Given the description of an element on the screen output the (x, y) to click on. 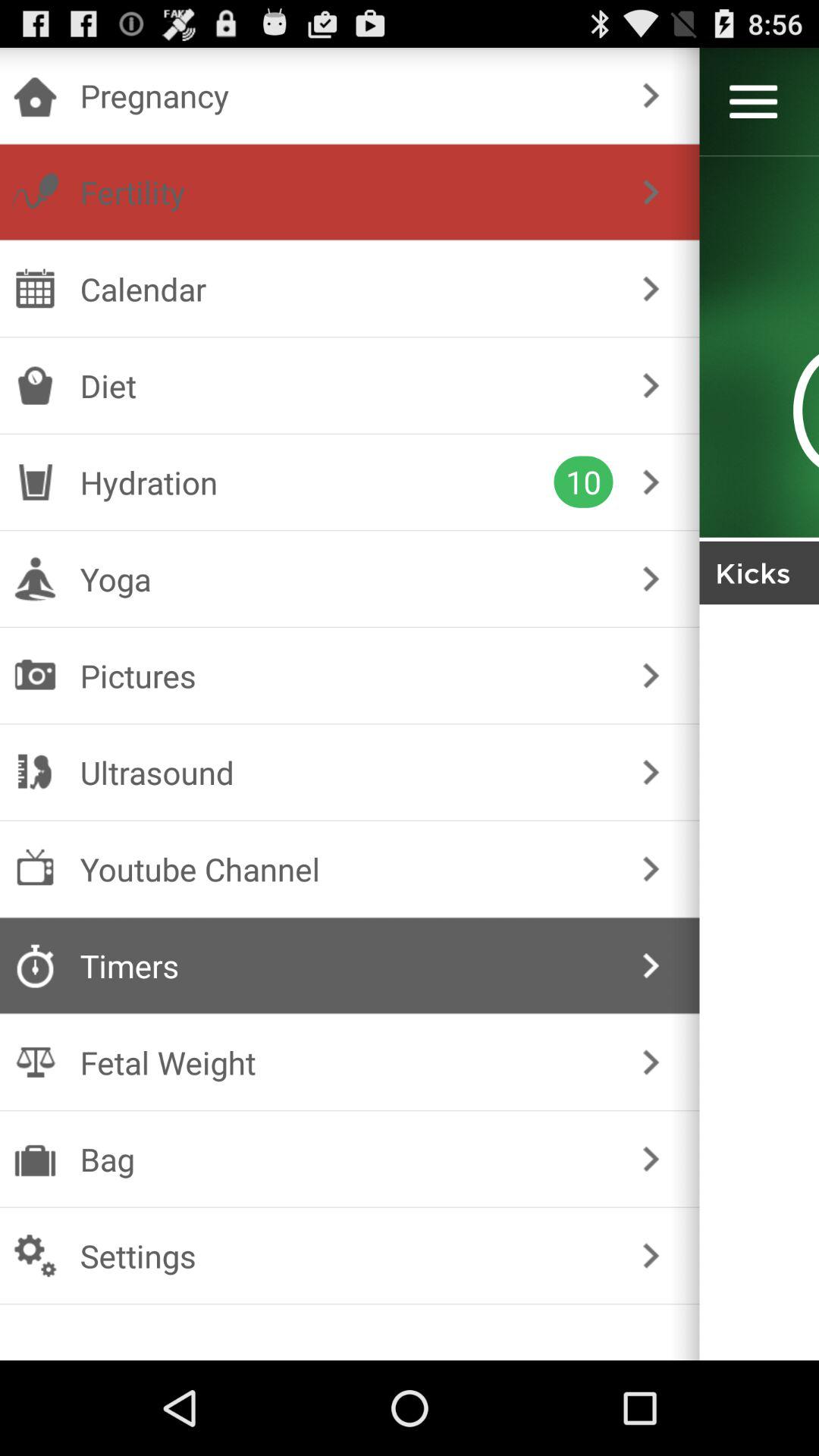
select the arrow icon on right side of text pregnancy (651, 94)
select the icon which is before ultrasound on the page (35, 772)
click on caret symbol on the right side of the text youtube channel (651, 869)
select the caret right arrow which is to the right side of fetal weight option (651, 1062)
click the home button (35, 94)
click on the icon which is left to the timers (35, 965)
go to arrow icon beside the text fertility (651, 192)
select the icon which is left to the text diet (35, 385)
